Given the description of an element on the screen output the (x, y) to click on. 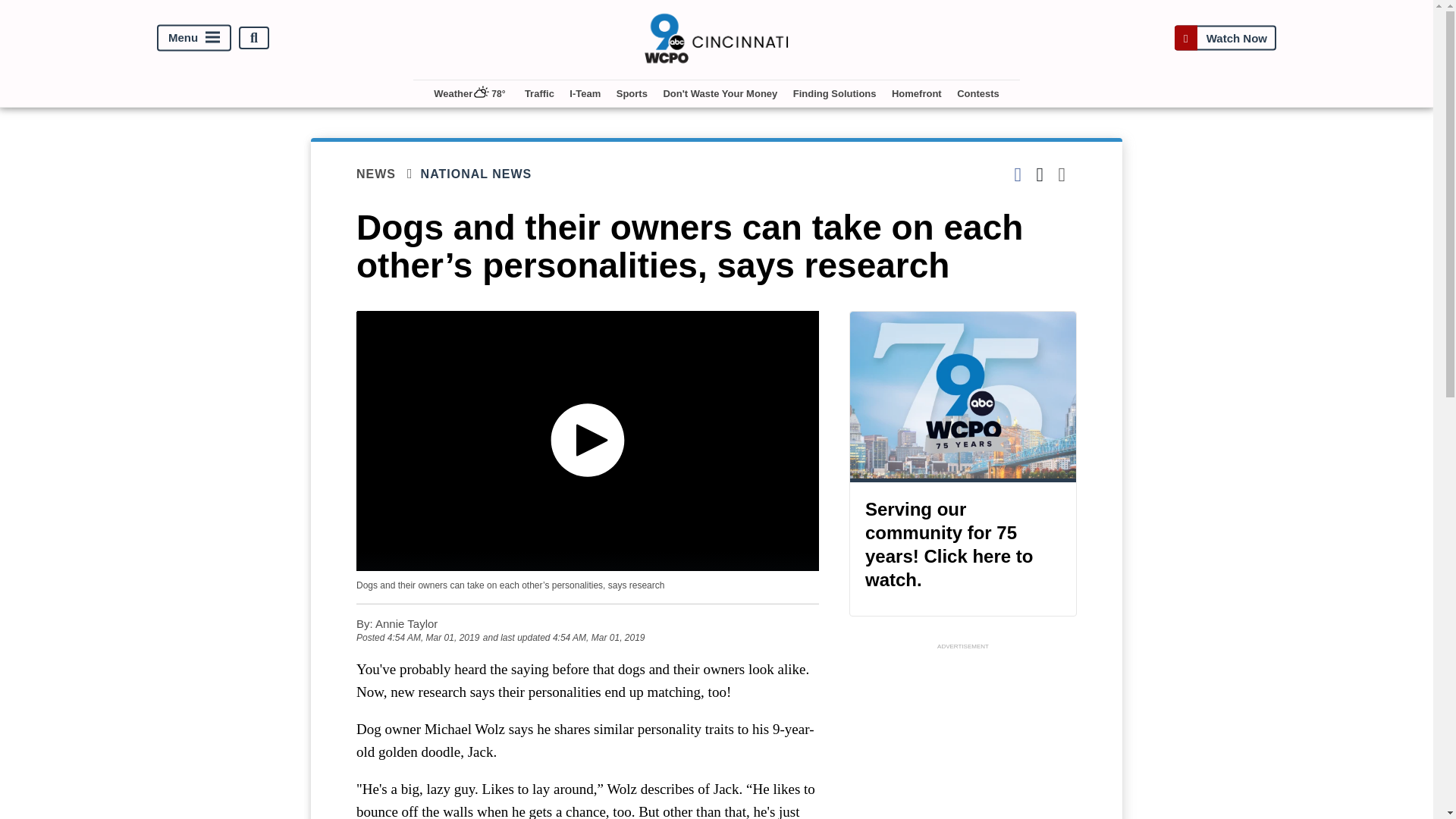
Menu (194, 38)
3rd party ad content (721, 781)
3rd party ad content (962, 736)
Watch Now (1224, 38)
